Given the description of an element on the screen output the (x, y) to click on. 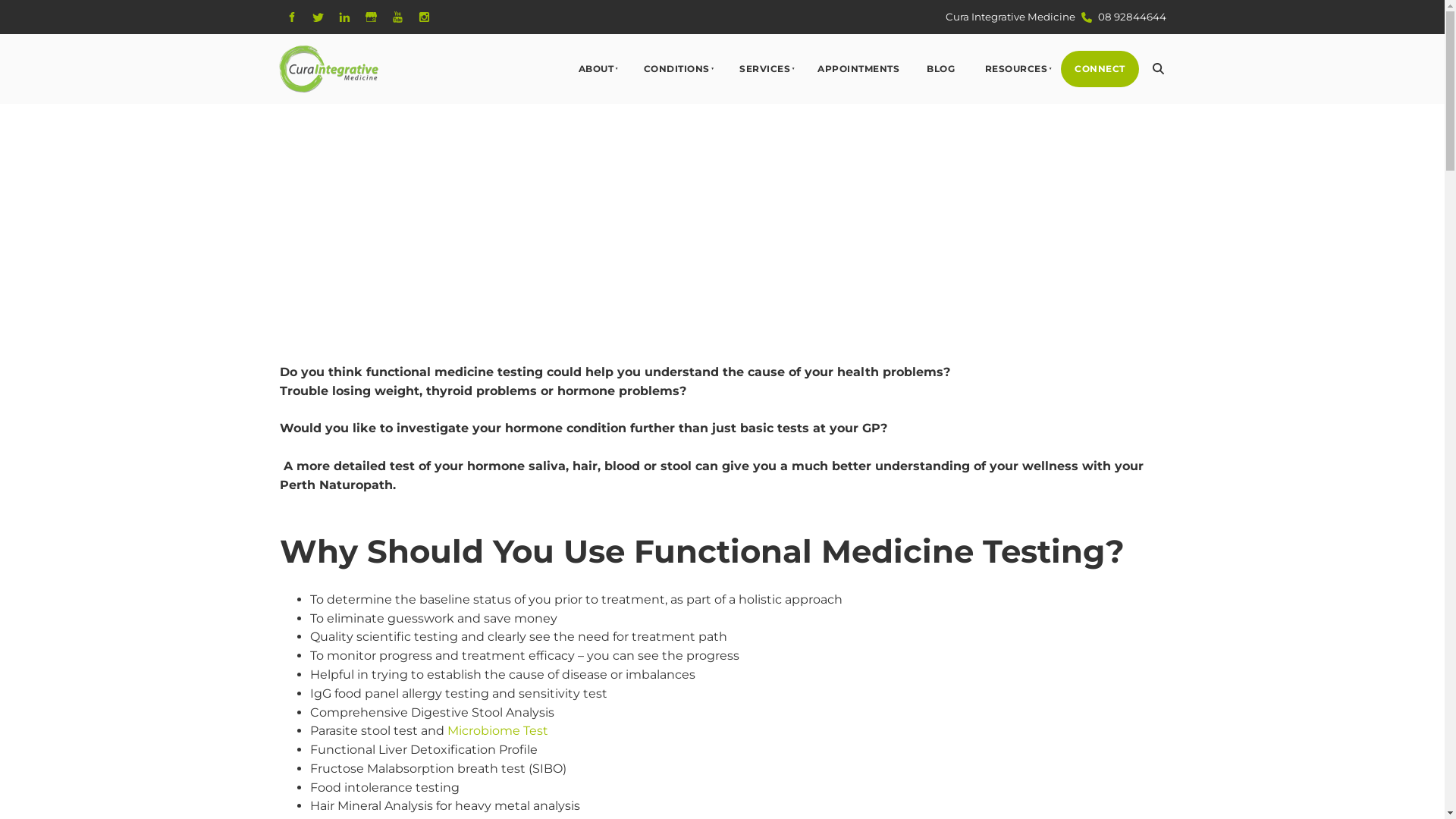
LinkedIn Element type: hover (344, 16)
CONDITIONS Element type: text (675, 68)
CONNECT Element type: text (1099, 68)
Instagram Element type: hover (423, 16)
Google My Business Element type: hover (369, 16)
BLOG Element type: text (940, 68)
Facebook Element type: hover (291, 16)
RESOURCES Element type: text (1014, 68)
Microbiome Test Element type: text (497, 730)
APPOINTMENTS Element type: text (858, 68)
ABOUT Element type: text (594, 68)
Youtube Element type: hover (397, 16)
Twitter Element type: hover (316, 16)
SERVICES Element type: text (763, 68)
Cura Integrative Medicine
08 92844644 Element type: text (1054, 16)
